Given the description of an element on the screen output the (x, y) to click on. 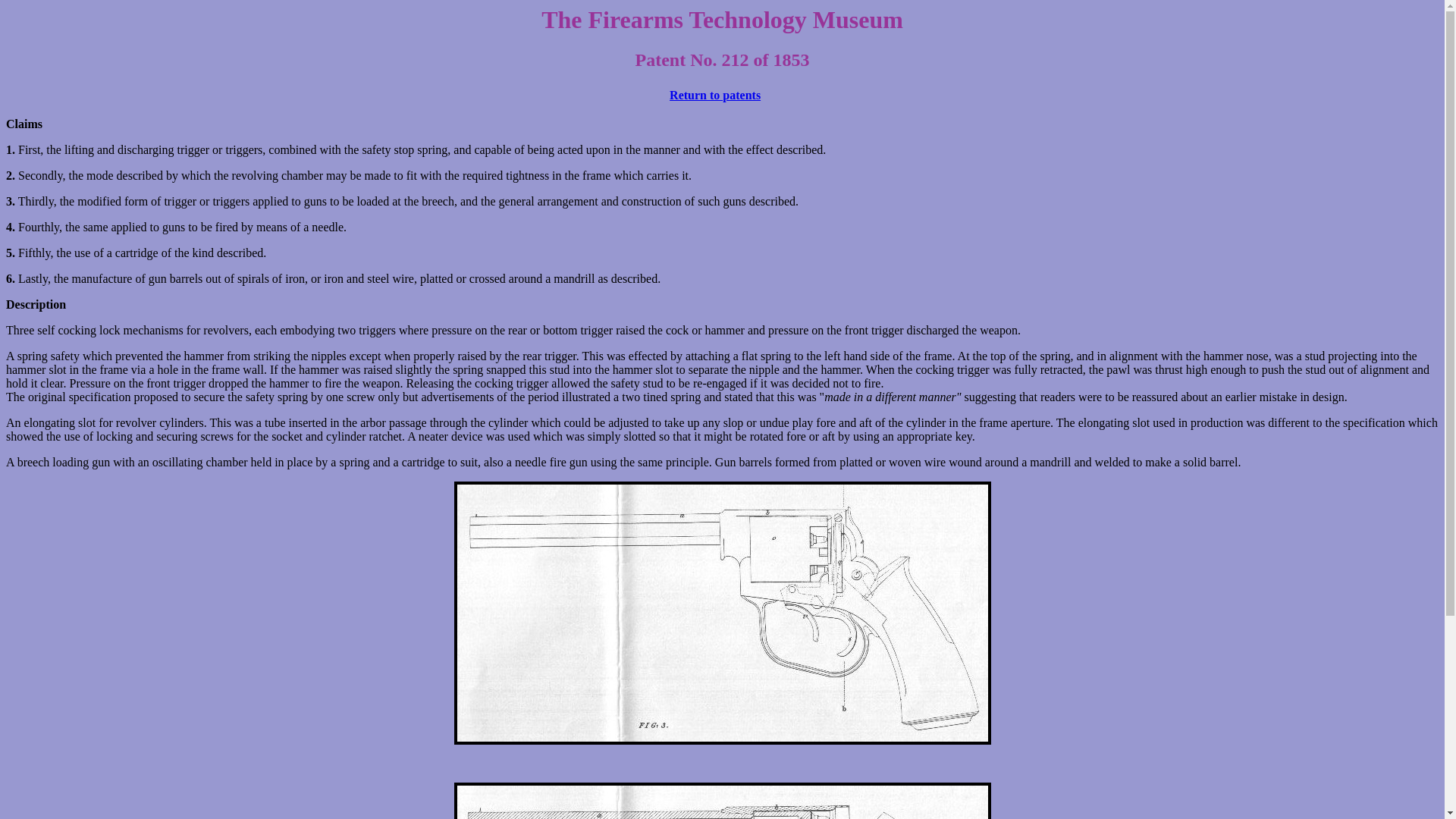
Return to patents Element type: text (714, 94)
